Given the description of an element on the screen output the (x, y) to click on. 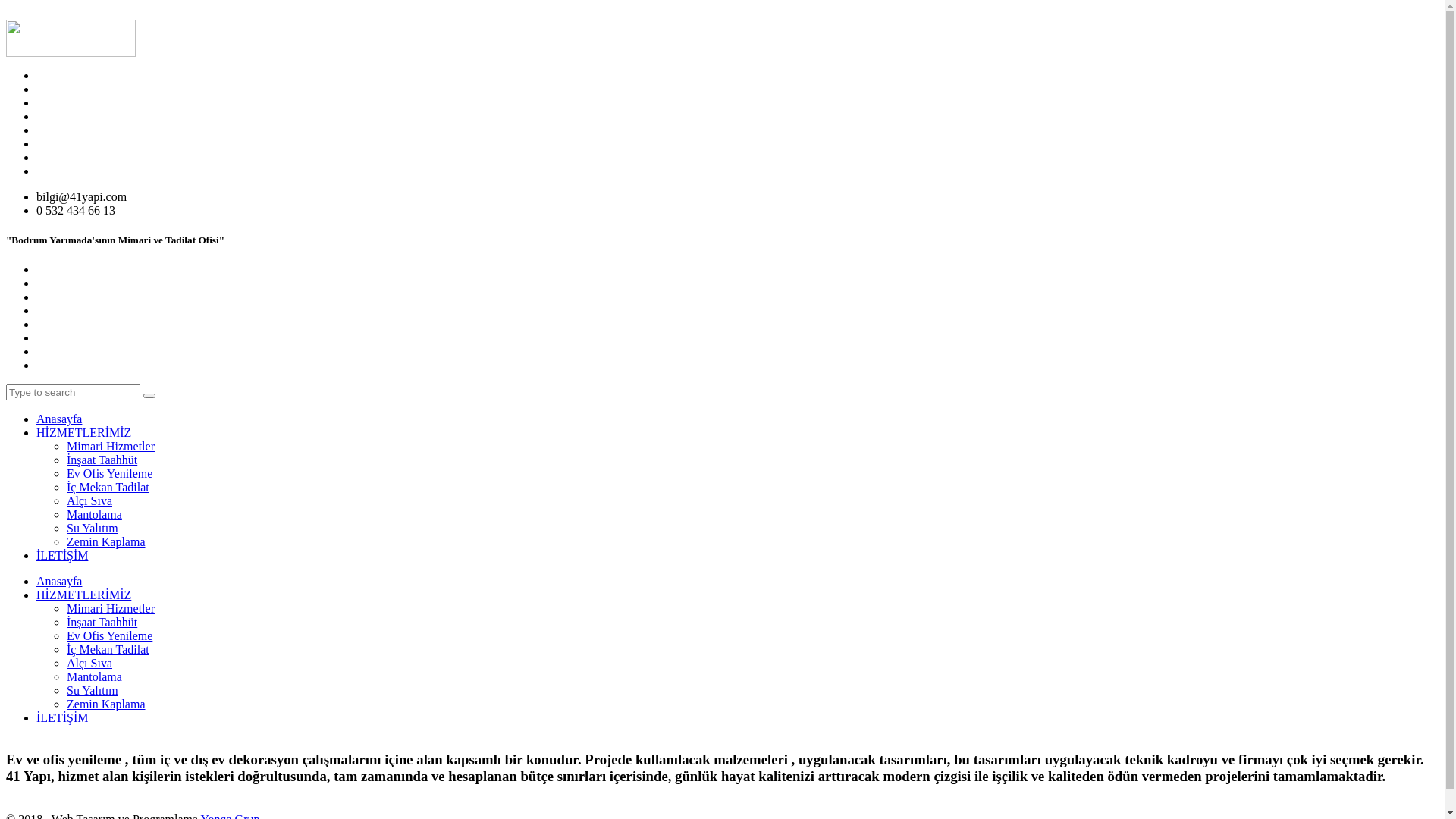
Zemin Kaplama Element type: text (105, 541)
Mantolama Element type: text (94, 676)
Mantolama Element type: text (94, 514)
Zemin Kaplama Element type: text (105, 703)
Anasayfa Element type: text (58, 580)
Mimari Hizmetler Element type: text (110, 445)
Ev Ofis Yenileme Element type: text (109, 635)
Ev Ofis Yenileme Element type: text (109, 473)
Mimari Hizmetler Element type: text (110, 608)
Anasayfa Element type: text (58, 418)
